Given the description of an element on the screen output the (x, y) to click on. 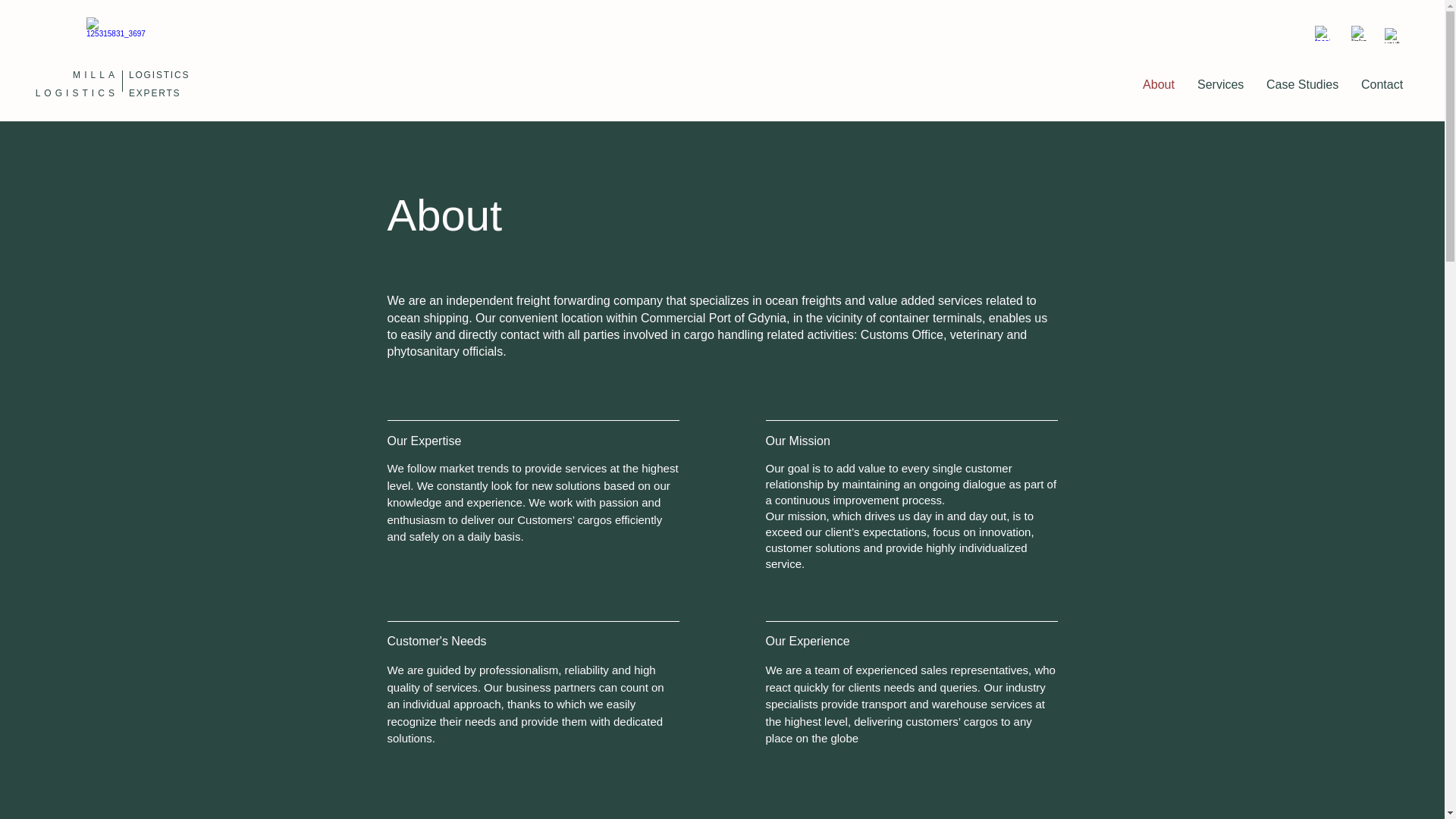
LOGISTICS  (161, 74)
Case Studies (1302, 85)
MILLA (94, 74)
Contact (1381, 85)
About (1158, 85)
Services (1220, 85)
LOGISTICS (75, 92)
